Given the description of an element on the screen output the (x, y) to click on. 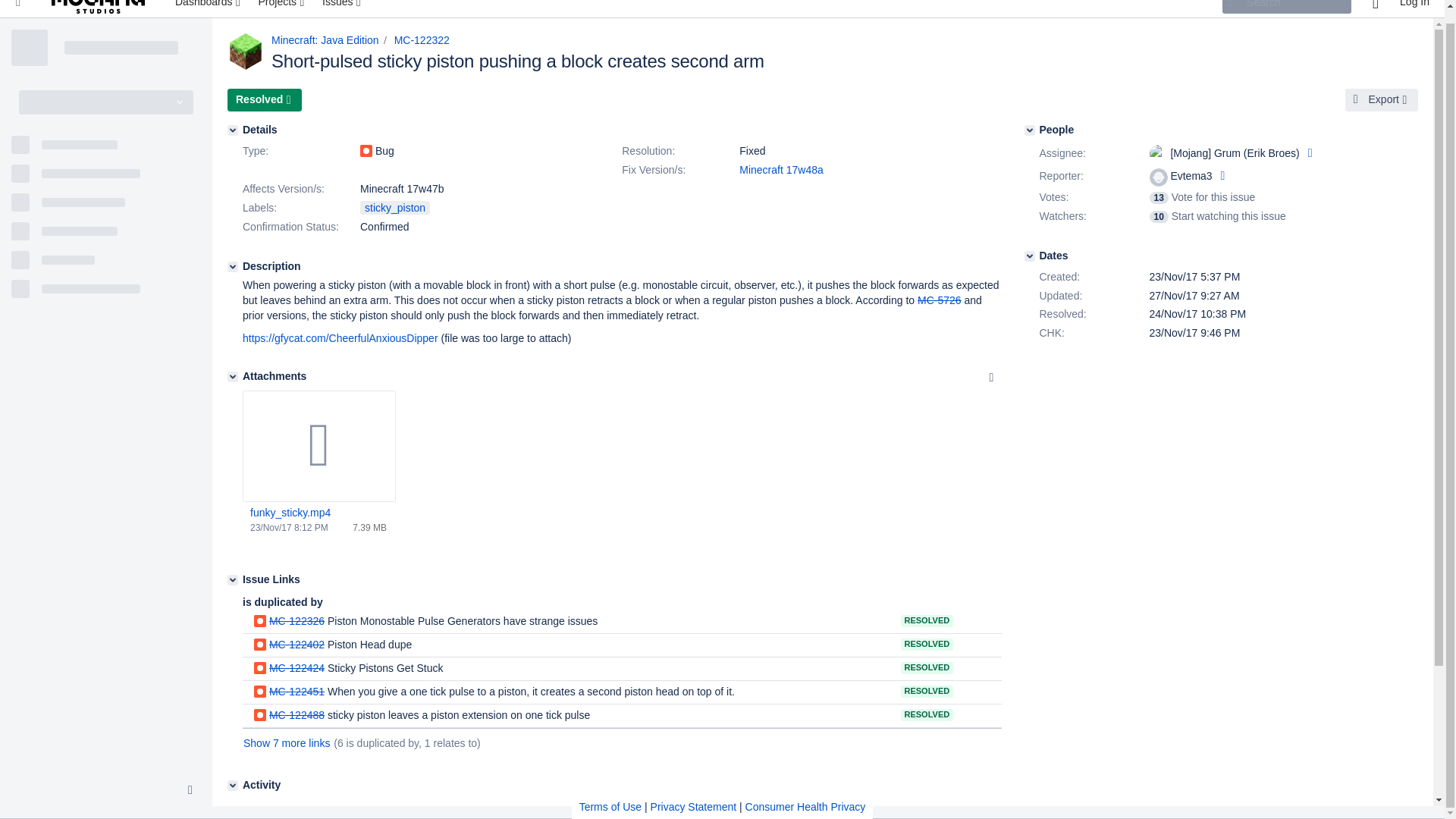
Projects (282, 8)
Attachments (232, 376)
Linked Applications (18, 8)
Options (991, 377)
Consumer Health Privacy (805, 793)
Description (232, 266)
Log In (1414, 8)
Search for issues and view recent issues (342, 8)
Type (299, 151)
Export this issue in another format (1381, 99)
MC-5726 (938, 300)
Minecraft 17w48a  (781, 169)
MC-122322 (421, 39)
Terms of Use (610, 793)
